Given the description of an element on the screen output the (x, y) to click on. 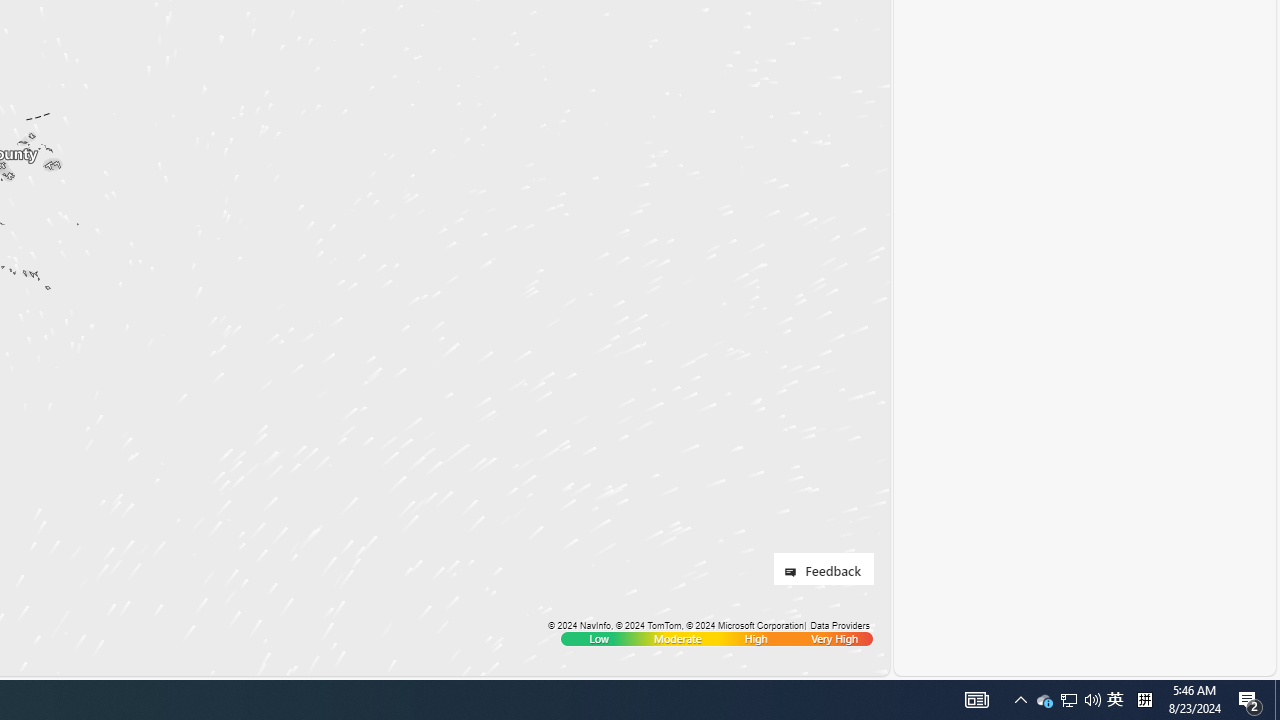
Class: feedback_link_icon-DS-EntryPoint1-1 (794, 571)
Data Providers (840, 625)
